Given the description of an element on the screen output the (x, y) to click on. 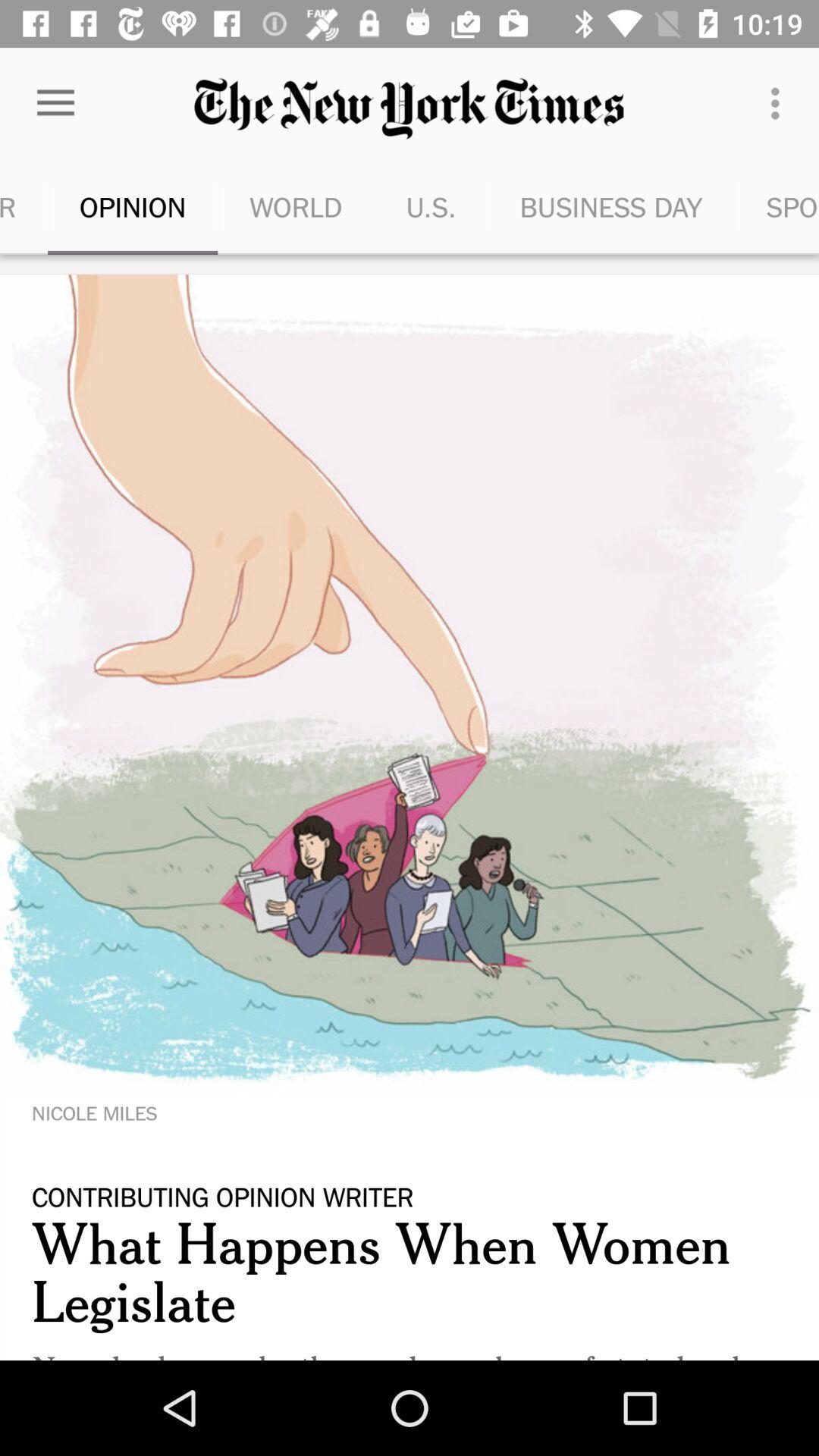
tap item next to the business day item (430, 206)
